Given the description of an element on the screen output the (x, y) to click on. 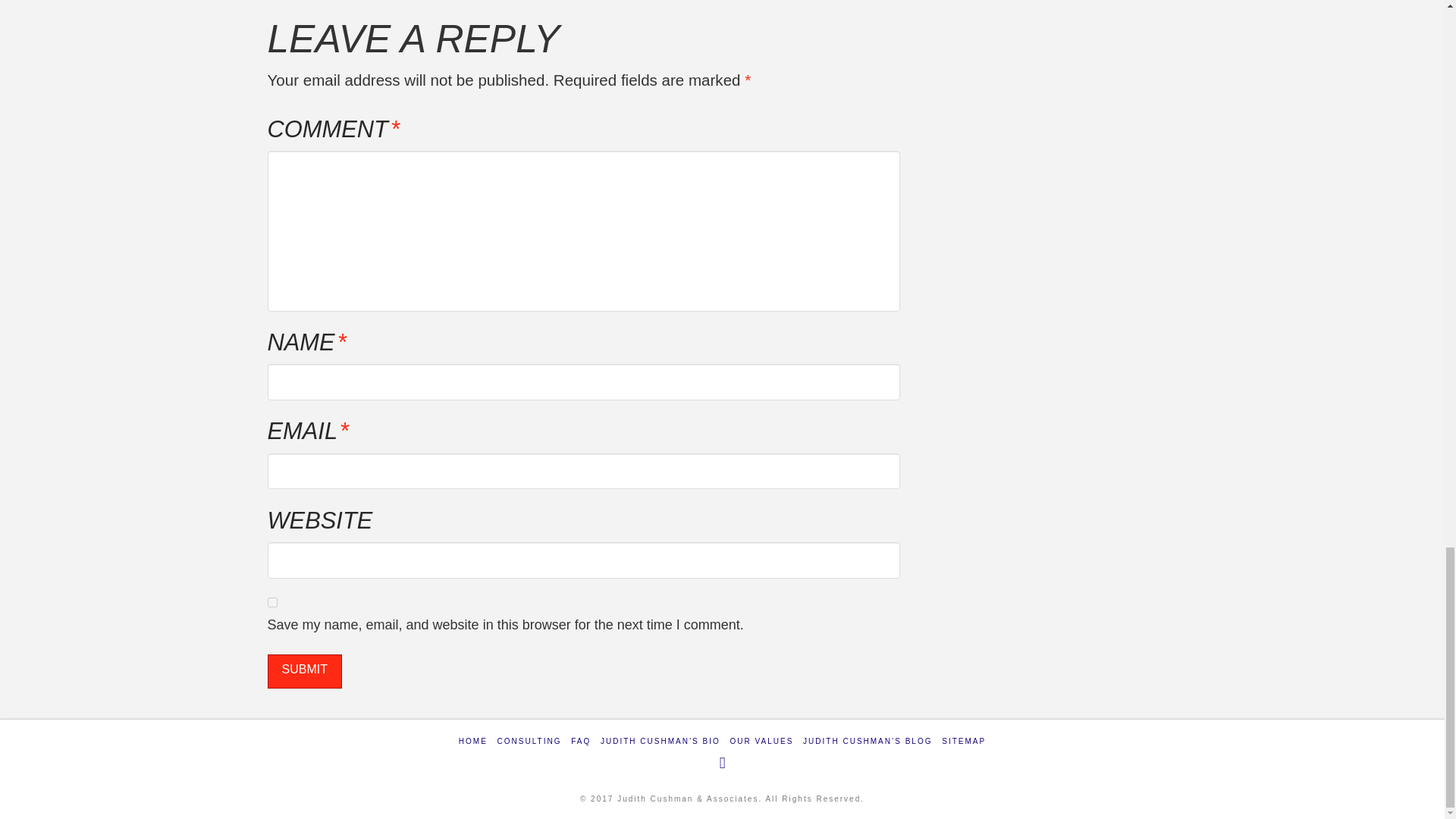
Submit (303, 671)
yes (271, 602)
Submit (303, 671)
